Given the description of an element on the screen output the (x, y) to click on. 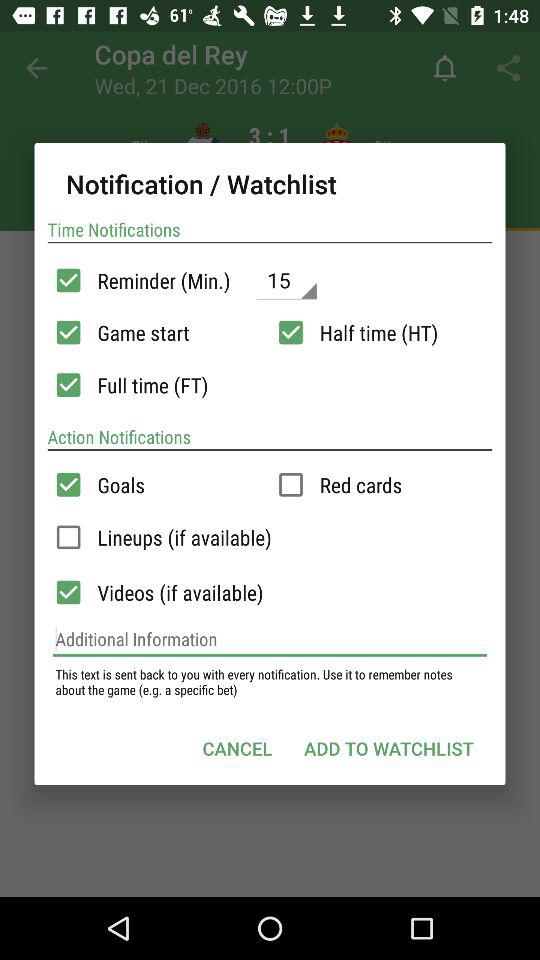
watch list selection videos (68, 592)
